Given the description of an element on the screen output the (x, y) to click on. 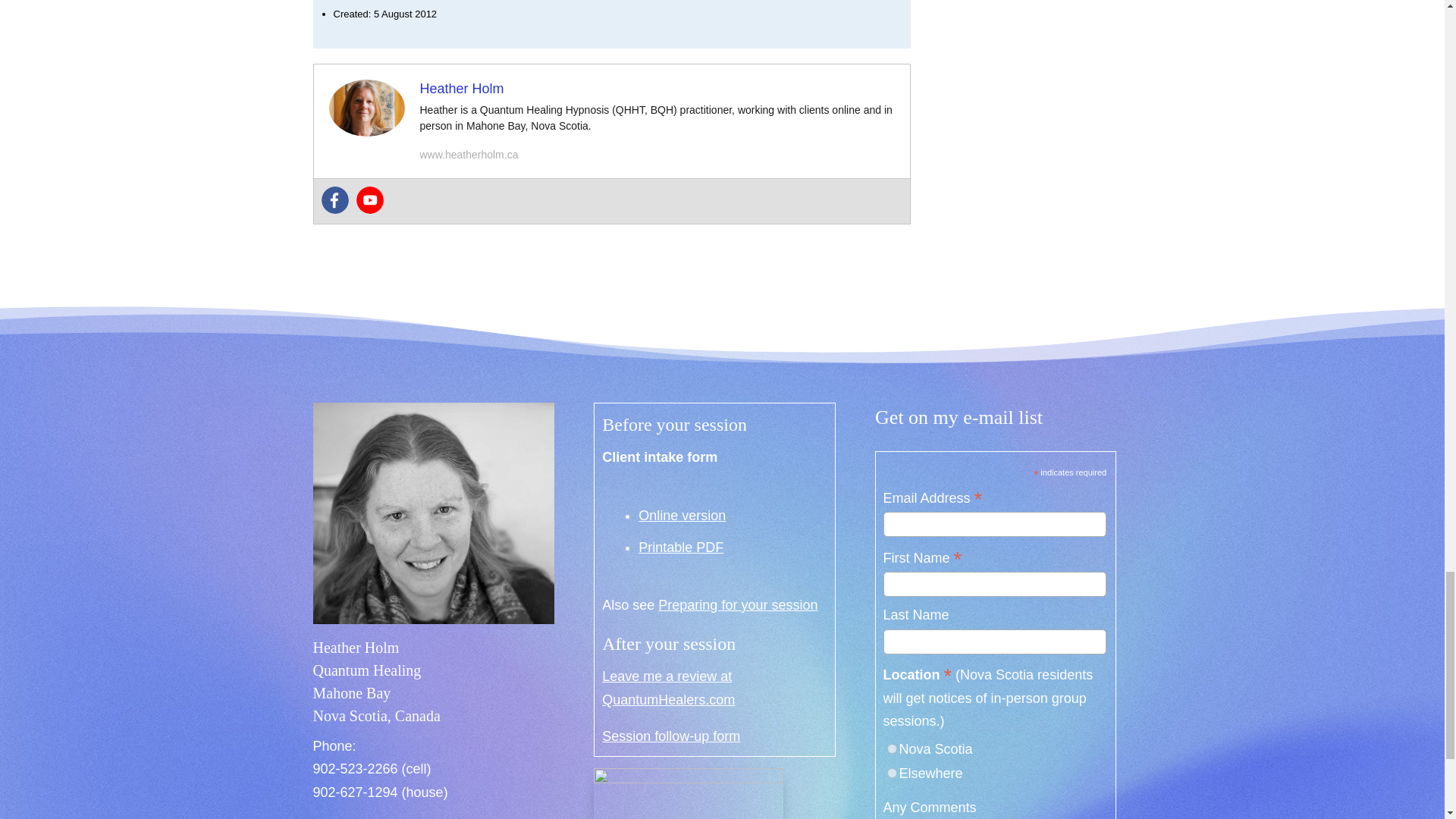
Elsewhere (891, 773)
Nova Scotia (891, 748)
